Given the description of an element on the screen output the (x, y) to click on. 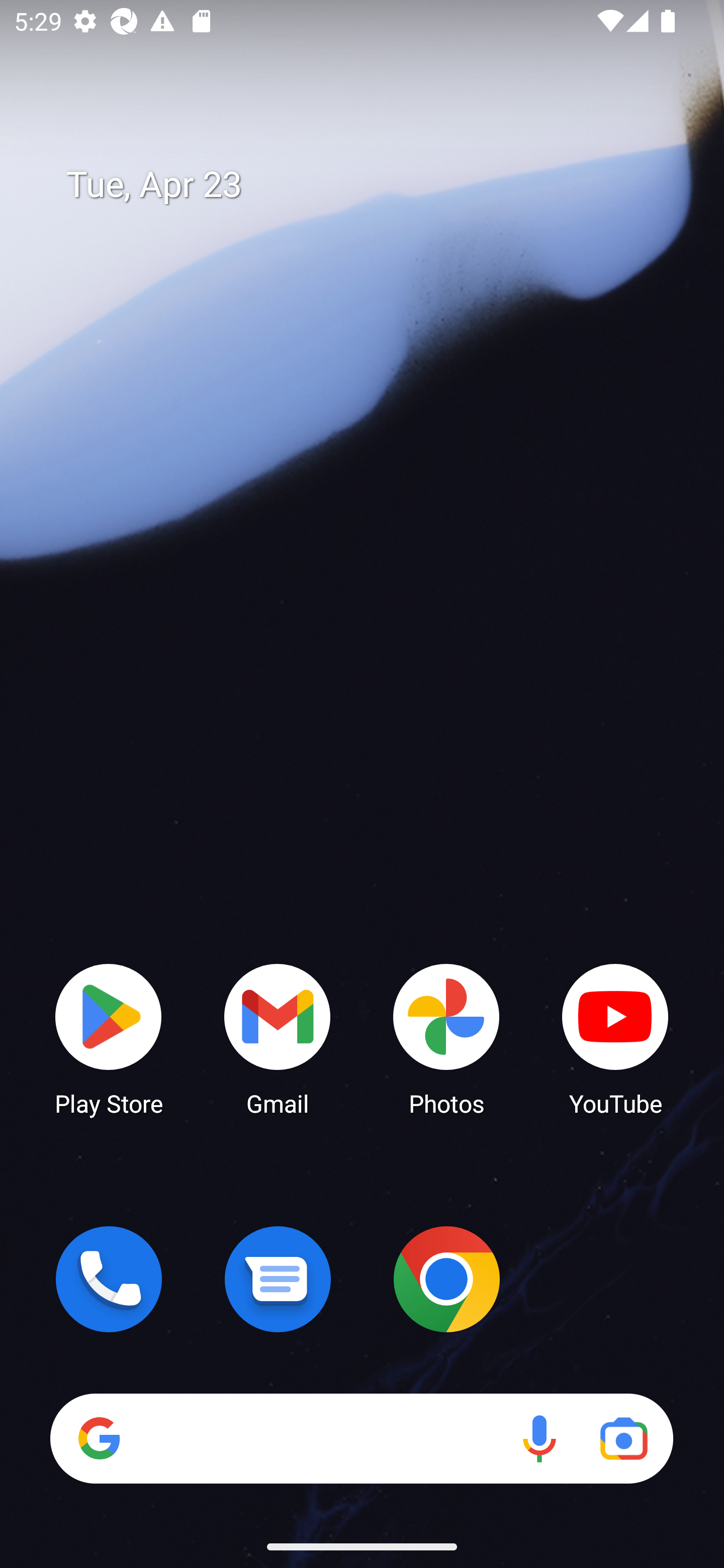
Tue, Apr 23 (375, 184)
Play Store (108, 1038)
Gmail (277, 1038)
Photos (445, 1038)
YouTube (615, 1038)
Phone (108, 1279)
Messages (277, 1279)
Chrome (446, 1279)
Search Voice search Google Lens (361, 1438)
Voice search (539, 1438)
Google Lens (623, 1438)
